Given the description of an element on the screen output the (x, y) to click on. 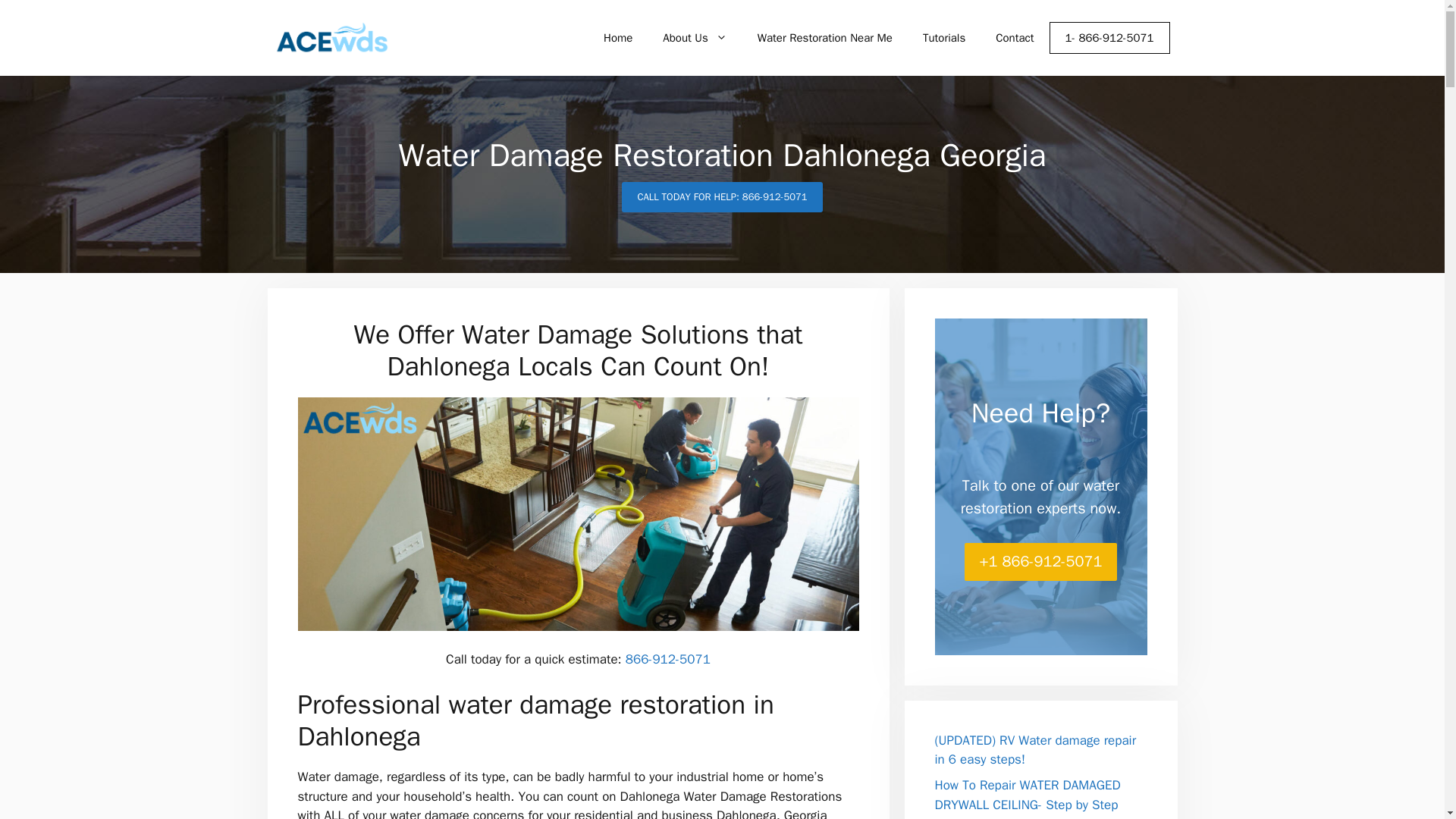
Tutorials (943, 37)
CALL TODAY FOR HELP: 866-912-5071 (721, 196)
866-912-5071 (668, 659)
1- 866-912-5071 (1109, 38)
How To Repair WATER DAMAGED DRYWALL CEILING- Step by Step (1026, 795)
Water Restoration Near Me (824, 37)
Contact (1013, 37)
About Us (694, 37)
Home (617, 37)
